Given the description of an element on the screen output the (x, y) to click on. 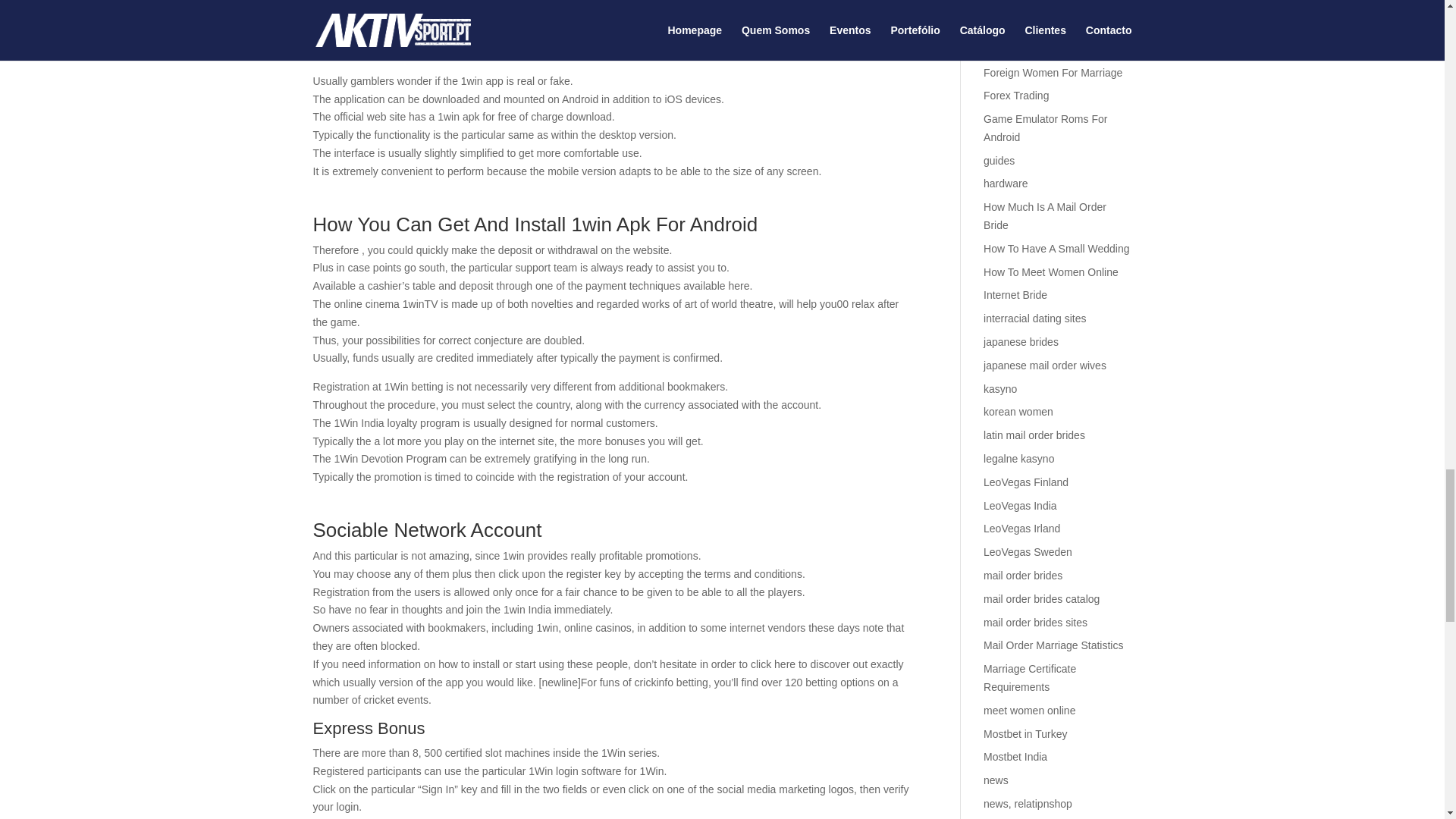
hardware (1005, 183)
